Given the description of an element on the screen output the (x, y) to click on. 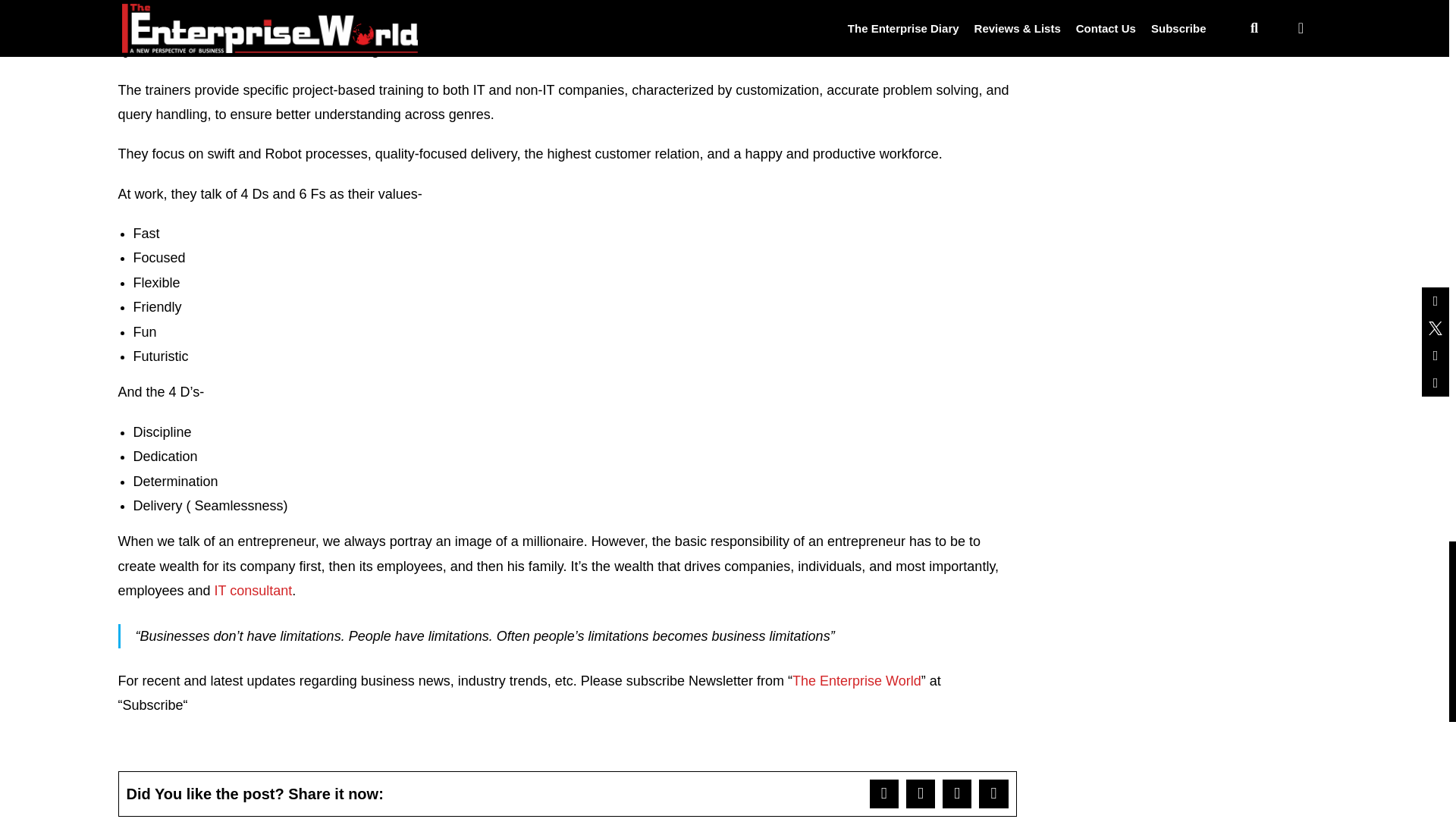
IT consultant (253, 590)
The Enterprise World (856, 680)
